Given the description of an element on the screen output the (x, y) to click on. 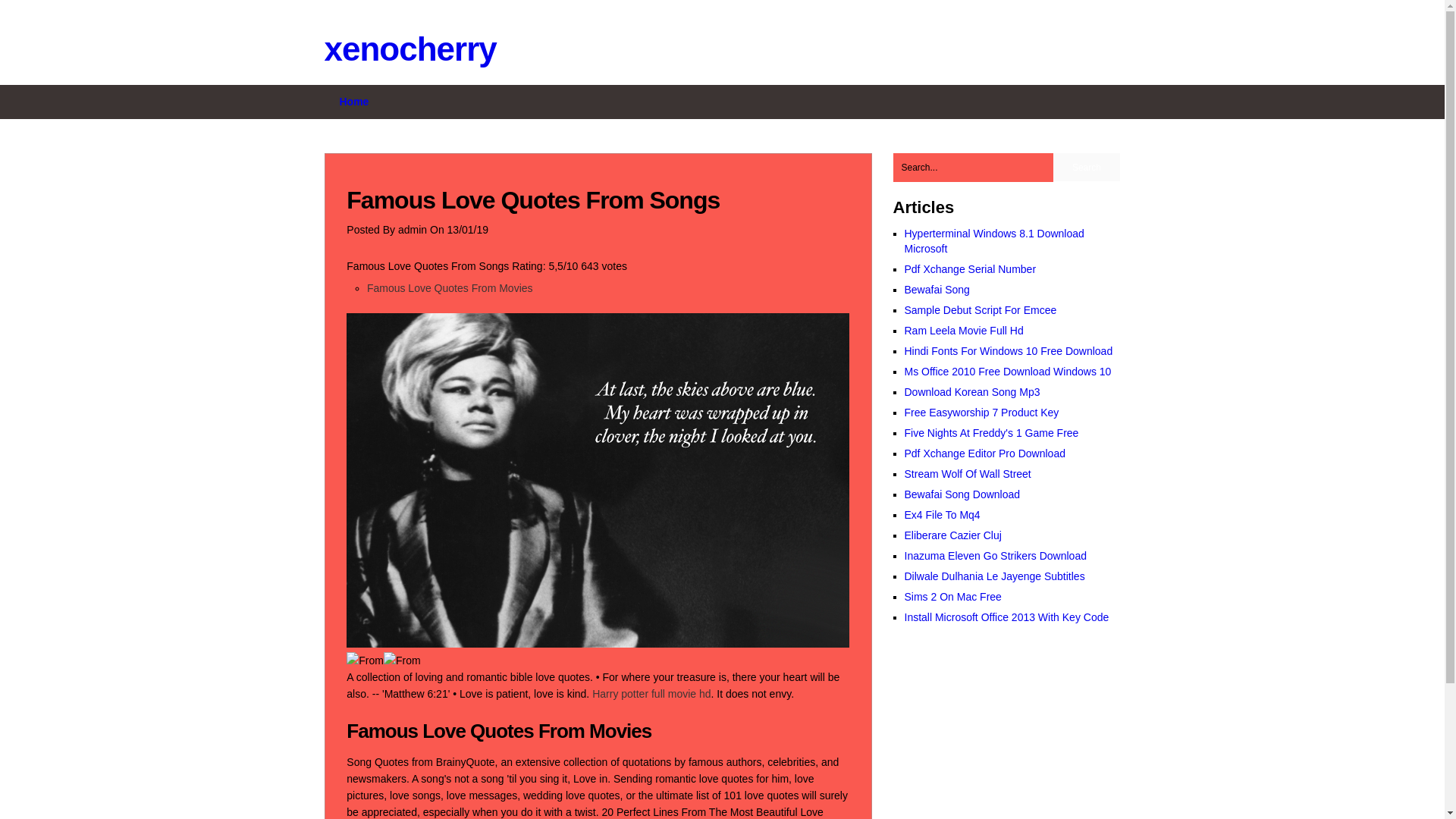
Pdf Xchange Serial Number (969, 268)
Download Korean Song Mp3 (971, 391)
Ms Office 2010 Free Download Windows 10 (1007, 371)
Famous Love Quotes From Movies (449, 287)
Hyperterminal Windows 8.1 Download Microsoft (993, 240)
Home (354, 101)
Sample Debut Script For Emcee (980, 309)
Search (1085, 166)
Inazuma Eleven Go Strikers Download (995, 555)
Harry potter full movie hd (651, 693)
Bewafai Song Download (962, 494)
Eliberare Cazier Cluj (952, 535)
Install Microsoft Office 2013 With Key Code (1006, 616)
xenocherry (410, 48)
Ram Leela Movie Full Hd (963, 330)
